Given the description of an element on the screen output the (x, y) to click on. 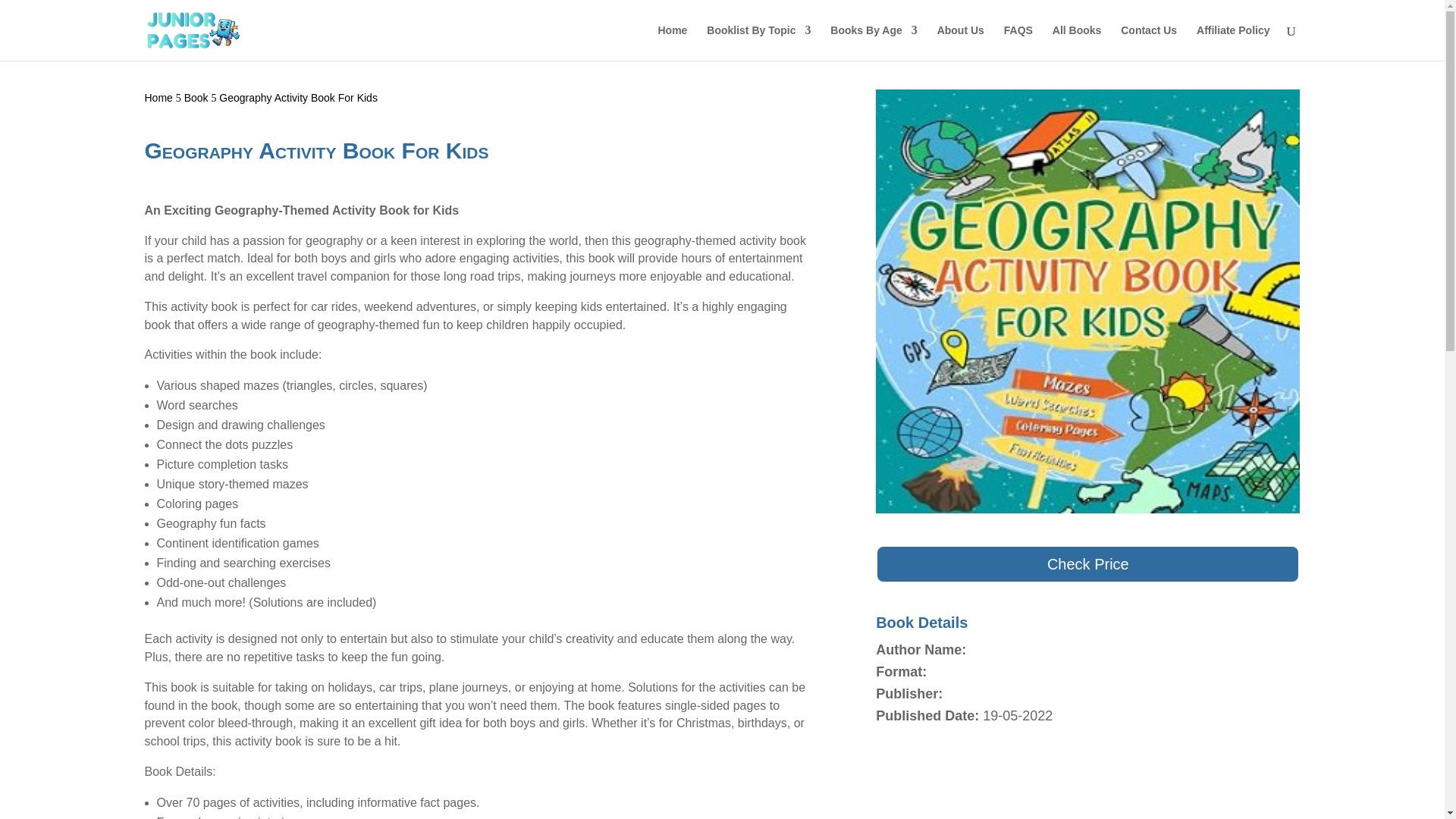
Books By Age (873, 42)
Affiliate Policy (1232, 42)
Contact Us (1148, 42)
Home (157, 97)
Book (196, 97)
About Us (960, 42)
All Books (1077, 42)
Booklist By Topic (758, 42)
